Given the description of an element on the screen output the (x, y) to click on. 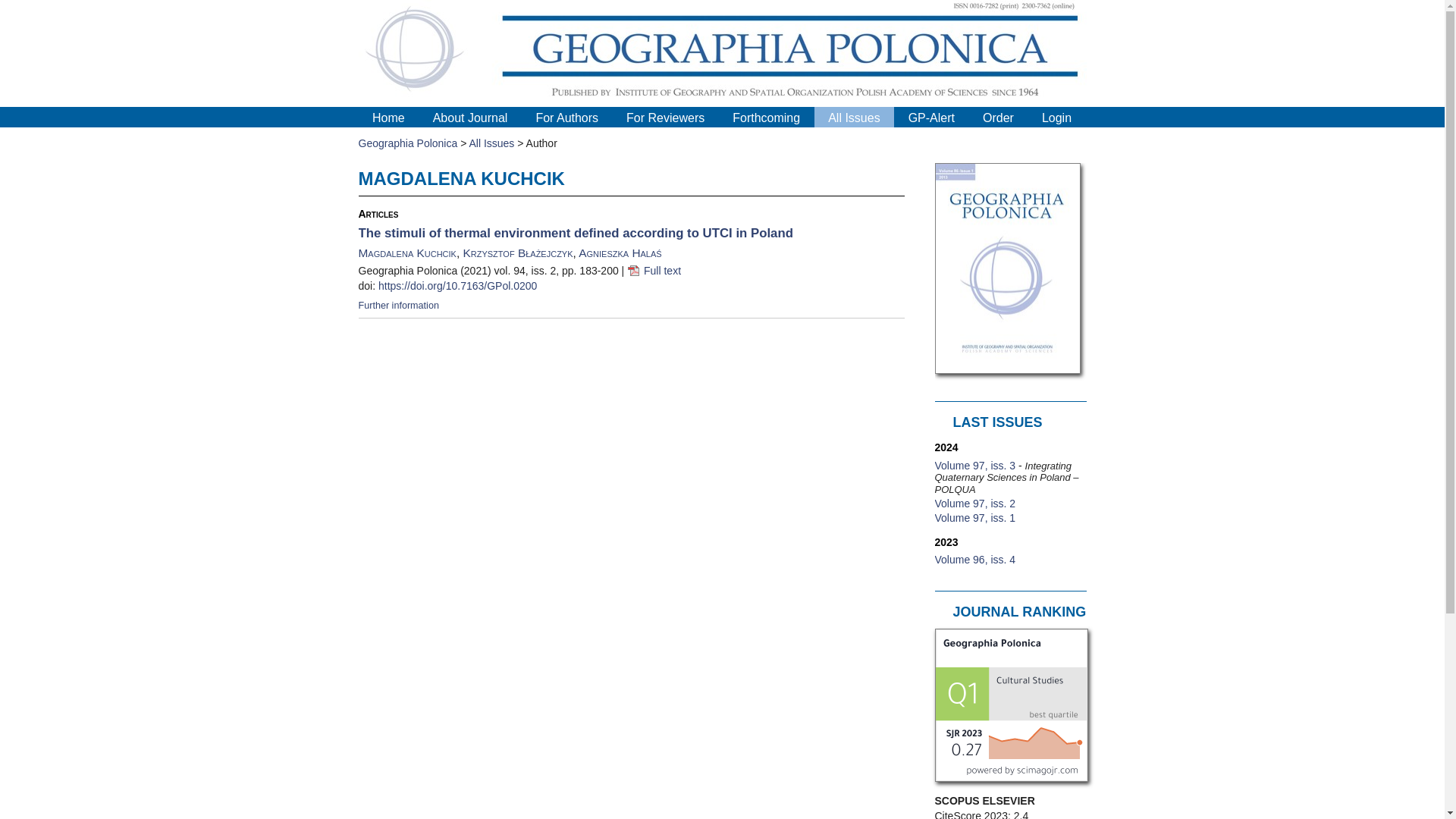
Geographia Polonica (407, 143)
Order (997, 117)
Forthcoming (765, 117)
Volume 96, iss. 4 (974, 559)
For Authors (566, 117)
About Journal (470, 117)
Order (997, 117)
All Issues (490, 143)
Volume 97, iss. 1 (974, 517)
Login (1056, 117)
